Given the description of an element on the screen output the (x, y) to click on. 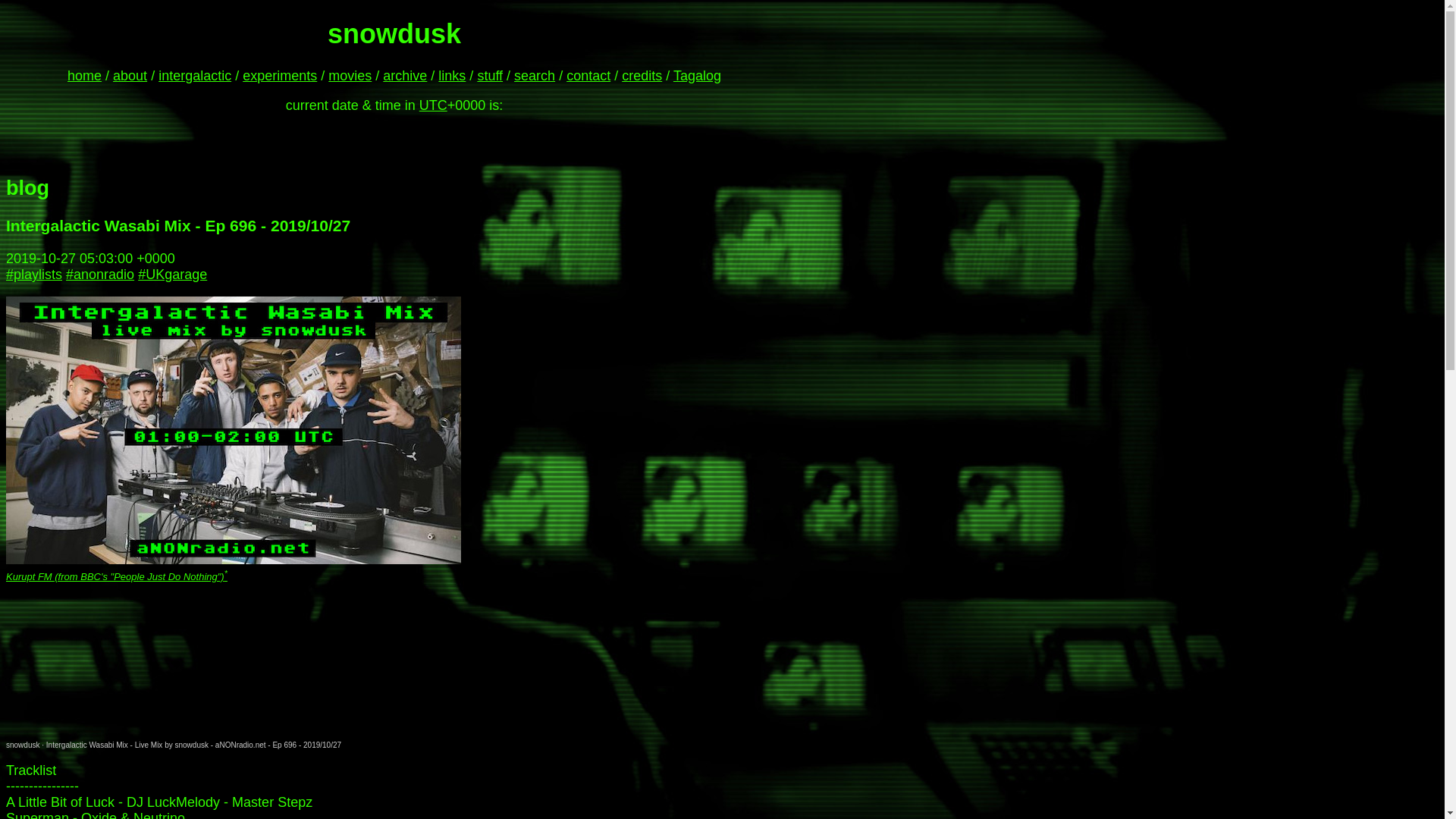
links (451, 75)
home (83, 75)
credits (641, 75)
experiments (280, 75)
about (130, 75)
intergalactic (194, 75)
UTC (432, 105)
contact (588, 75)
snowdusk (22, 745)
stuff (489, 75)
